Given the description of an element on the screen output the (x, y) to click on. 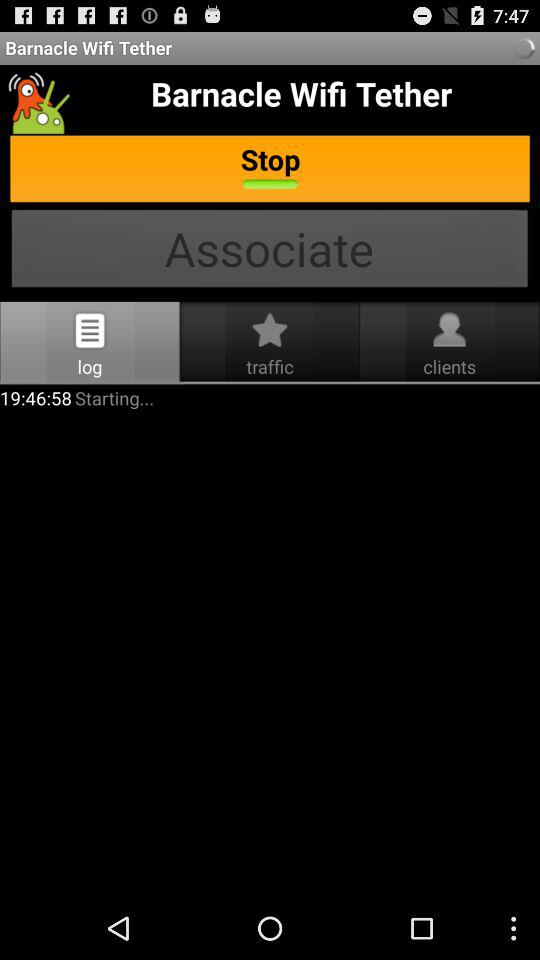
turn off associate (269, 250)
